Given the description of an element on the screen output the (x, y) to click on. 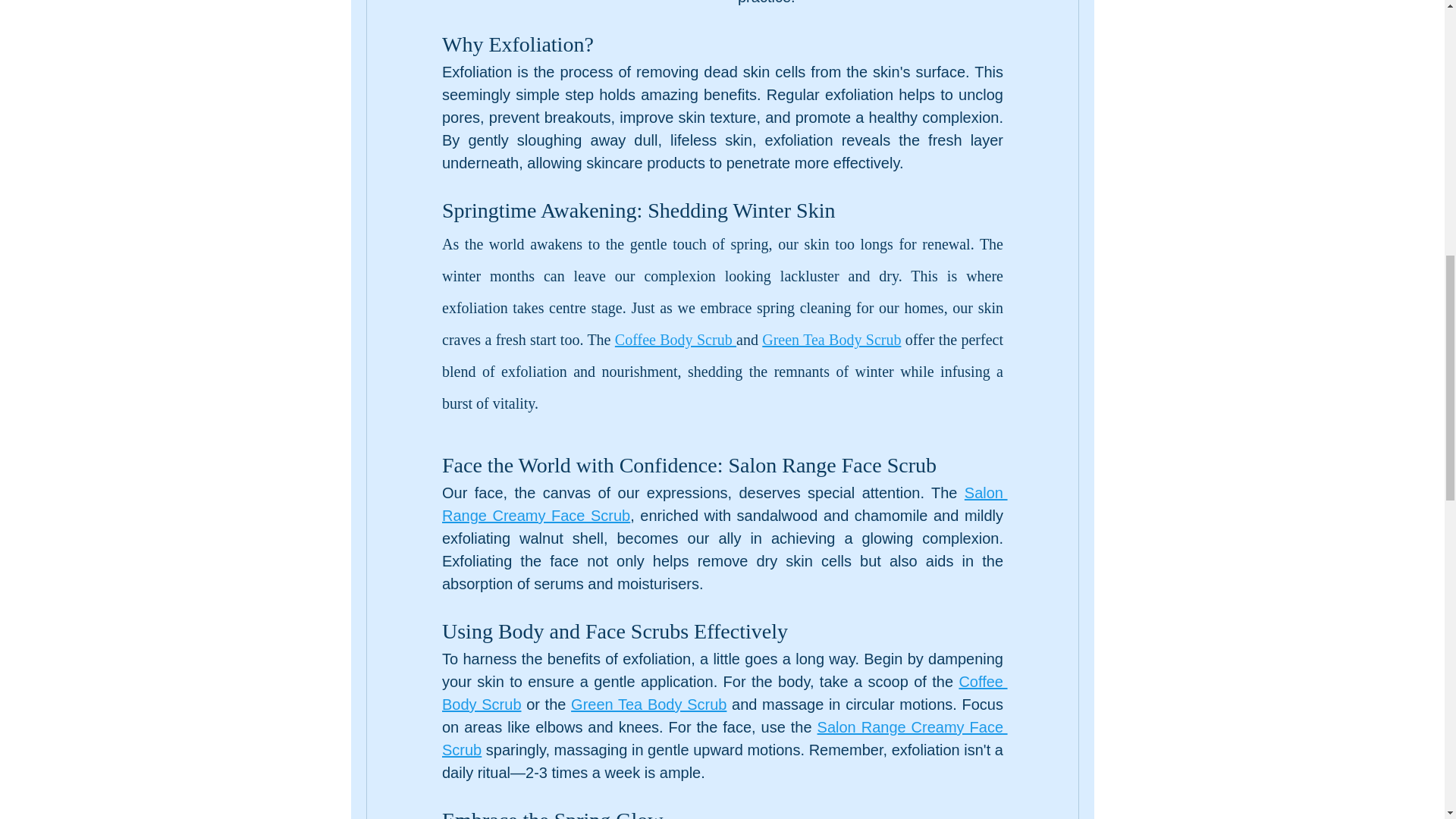
Green Tea Body Scrub (831, 337)
Coffee Body Scrub (724, 693)
Coffee Body Scrub  (674, 337)
Salon Range Creamy Face Scrub (724, 739)
Salon Range Creamy Face Scrub (724, 505)
Green Tea Body Scrub (648, 704)
